Given the description of an element on the screen output the (x, y) to click on. 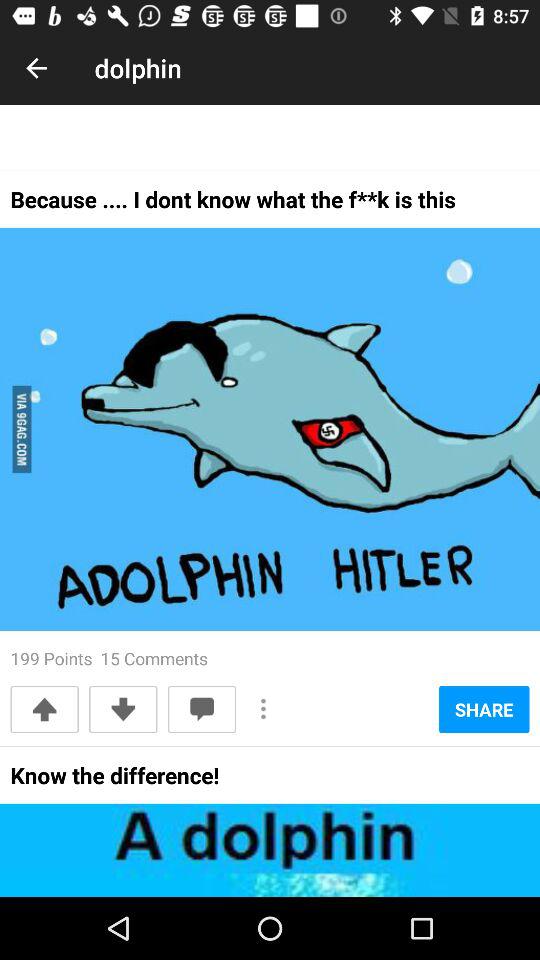
scroll until share icon (484, 709)
